Given the description of an element on the screen output the (x, y) to click on. 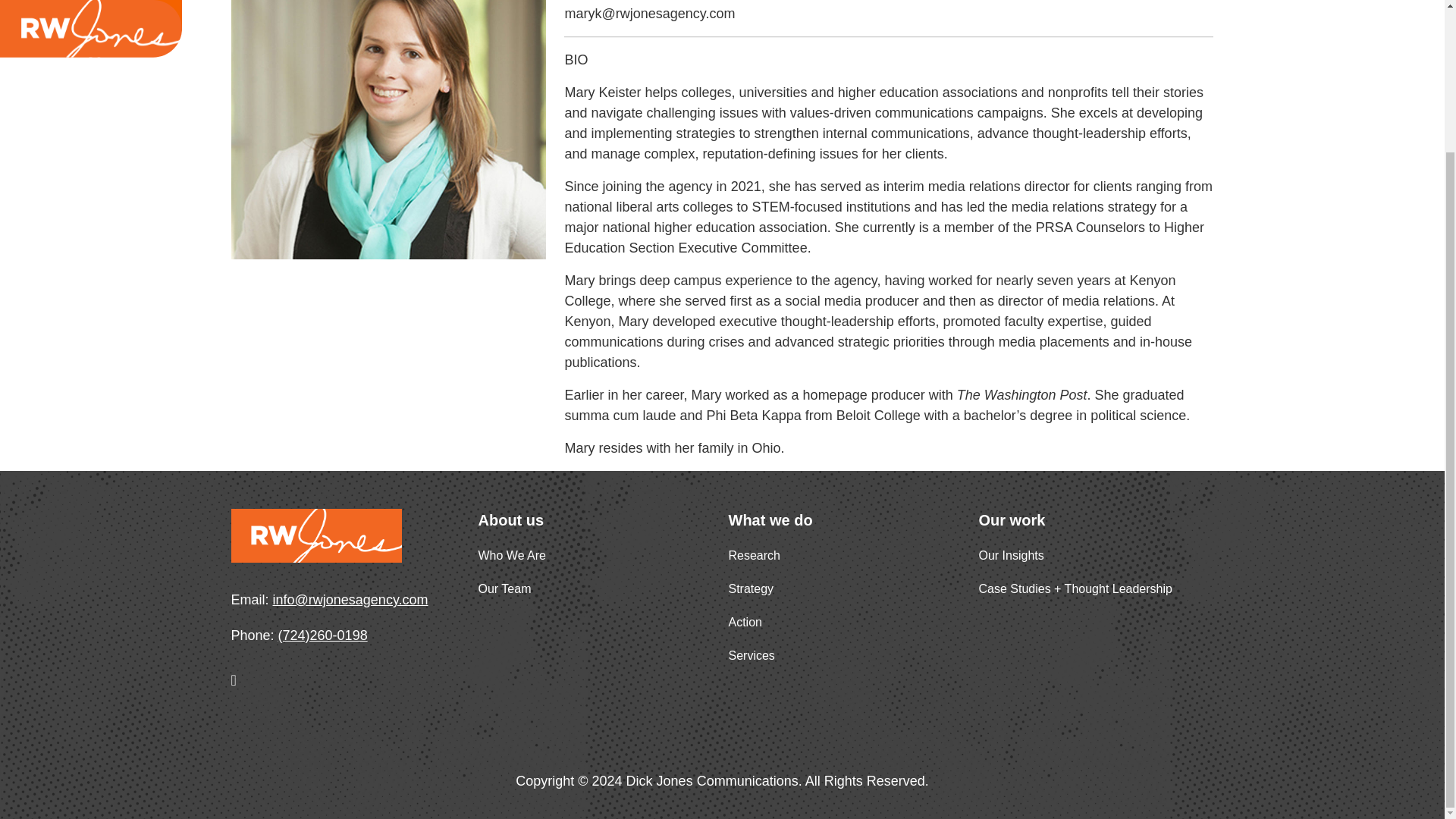
Strategy (750, 588)
Research (753, 554)
Who We Are (511, 554)
Action (744, 621)
Services (751, 655)
Our Insights (1010, 554)
Our Team (504, 588)
